Given the description of an element on the screen output the (x, y) to click on. 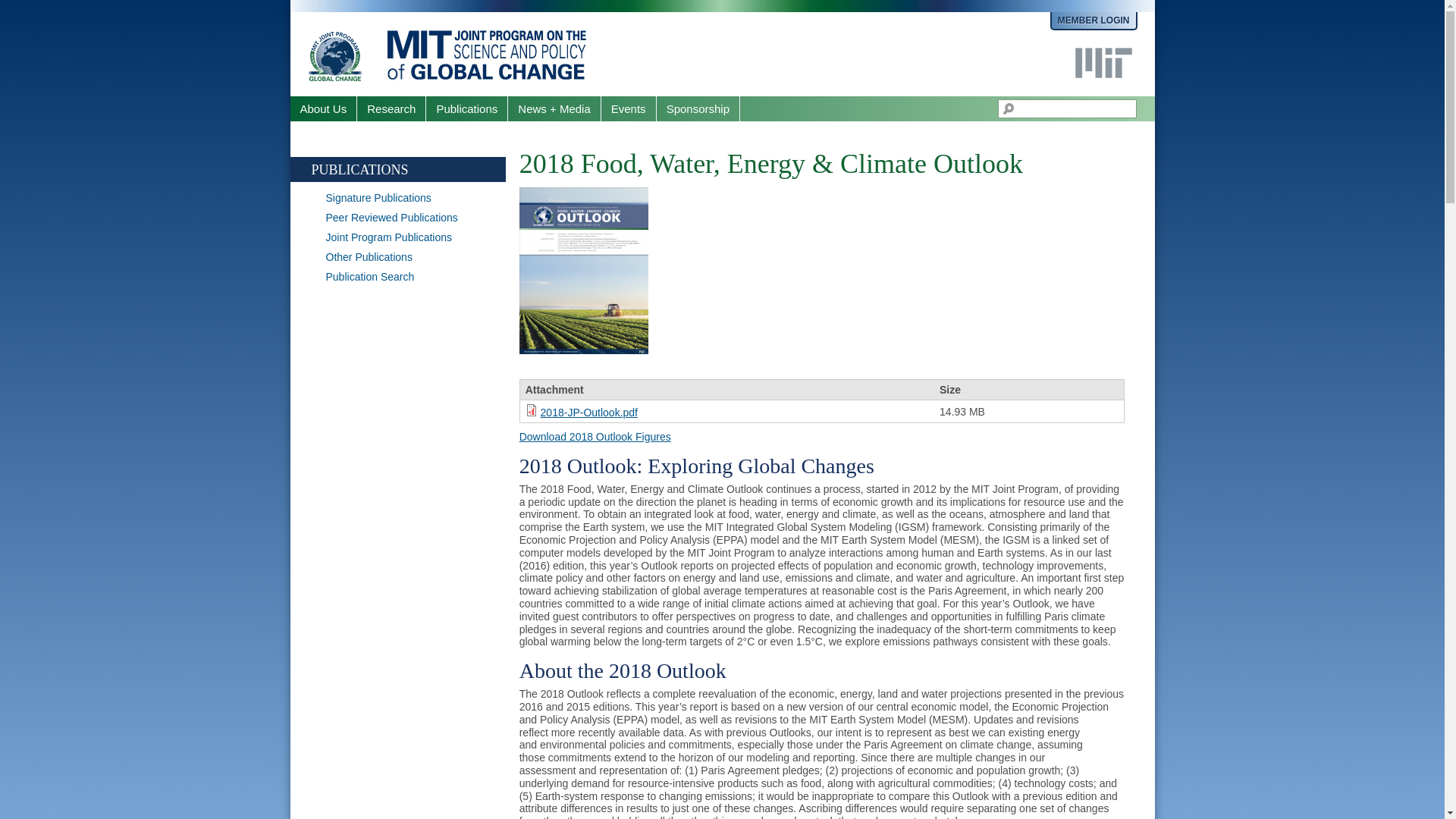
Publications (467, 108)
MEMBER LOGIN (1093, 21)
Enter the terms you wish to search for. (1067, 108)
Research (391, 108)
About Us (322, 108)
